Given the description of an element on the screen output the (x, y) to click on. 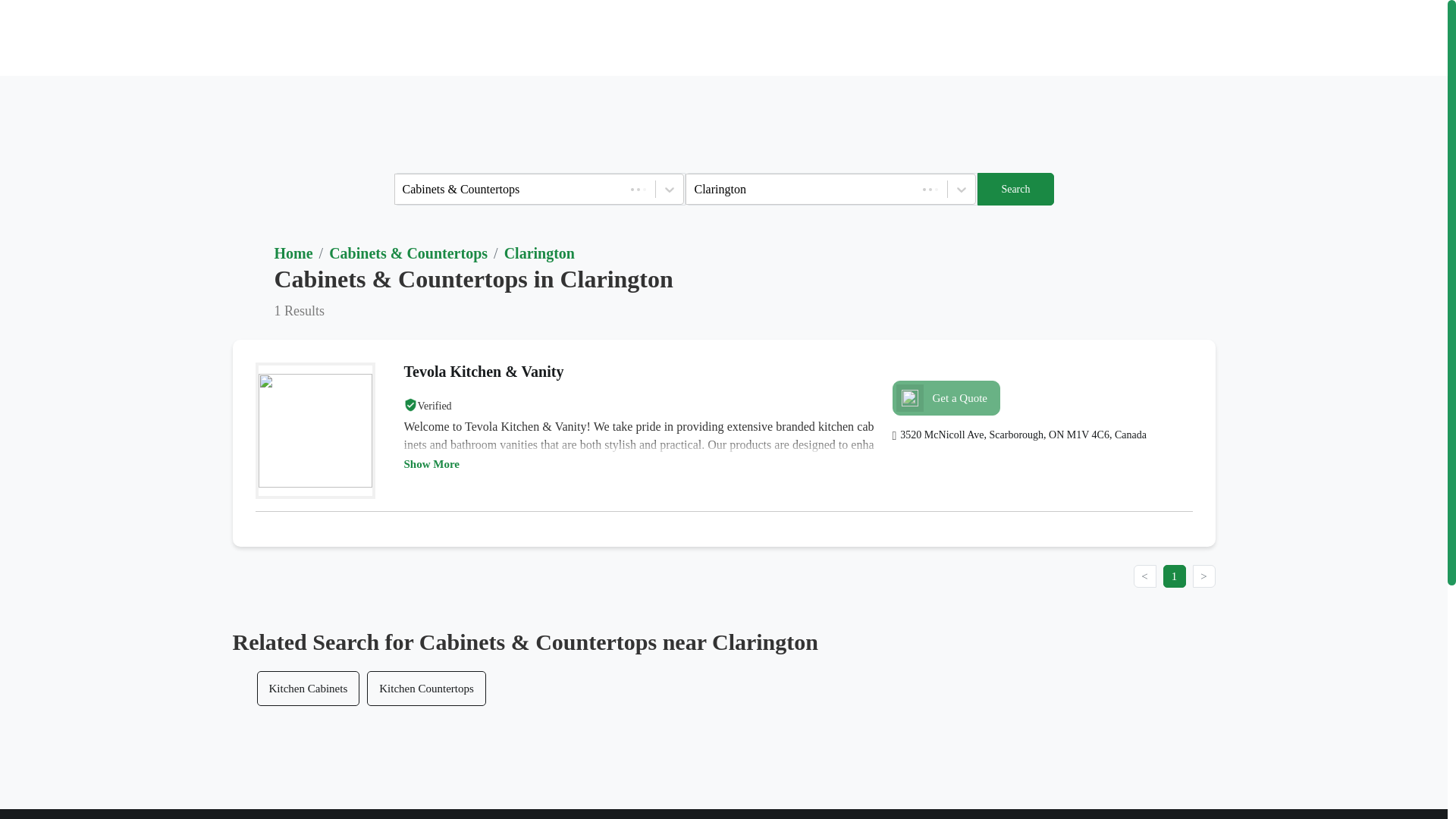
Search (1014, 188)
1 (1174, 576)
Get a Quote (946, 397)
Kitchen Cabinets (307, 687)
Kitchen Countertops (426, 687)
Clarington (539, 252)
Home (294, 252)
